Given the description of an element on the screen output the (x, y) to click on. 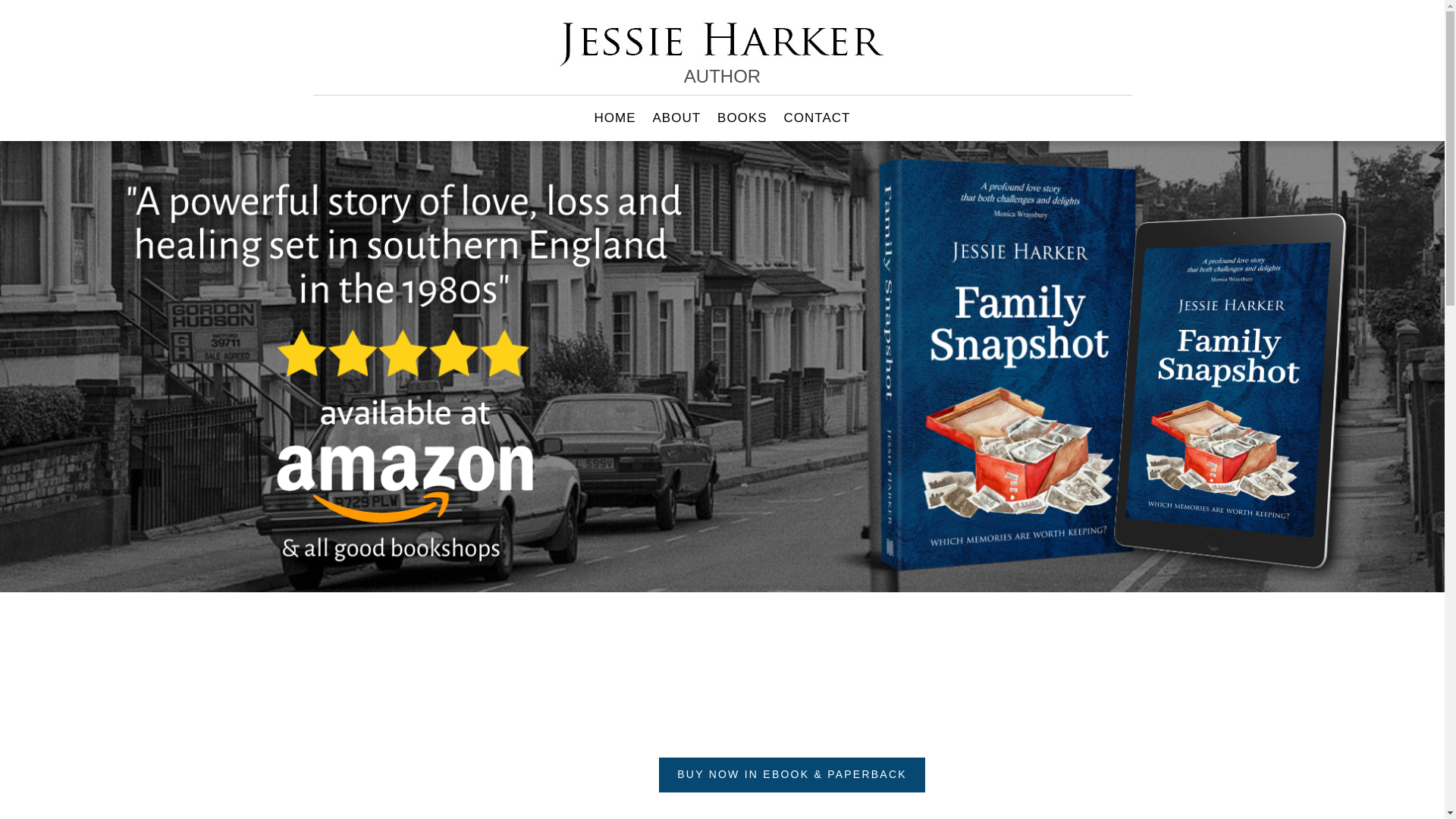
Jessie Harker Author (721, 39)
BOOKS (742, 121)
CONTACT (817, 121)
ABOUT (676, 121)
HOME (615, 121)
